Given the description of an element on the screen output the (x, y) to click on. 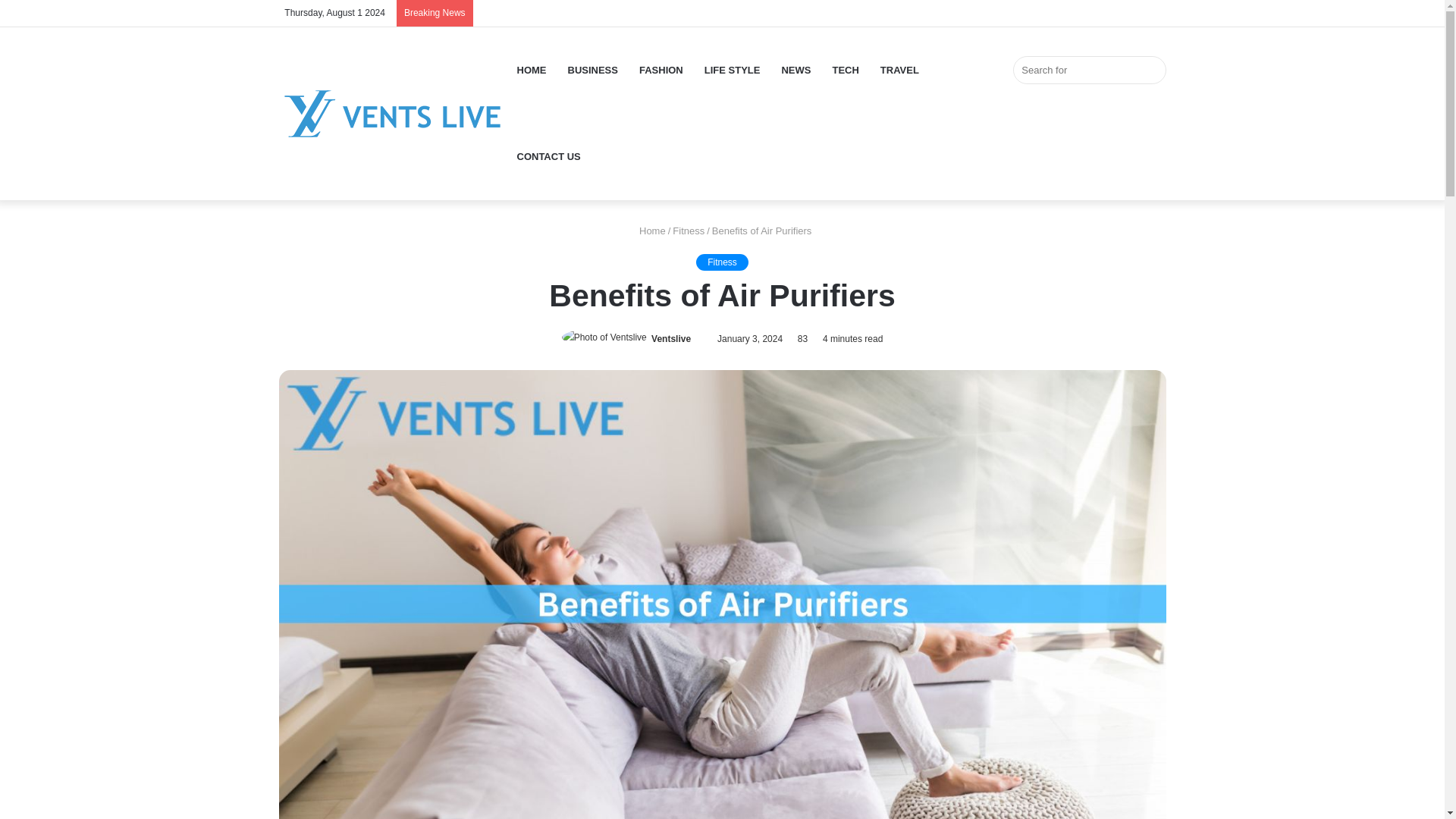
Search for (1089, 70)
CONTACT US (548, 156)
Ventslive (392, 113)
LIFE STYLE (732, 70)
Fitness (721, 262)
Fitness (688, 230)
Ventslive (670, 338)
Home (649, 230)
Ventslive (670, 338)
